Given the description of an element on the screen output the (x, y) to click on. 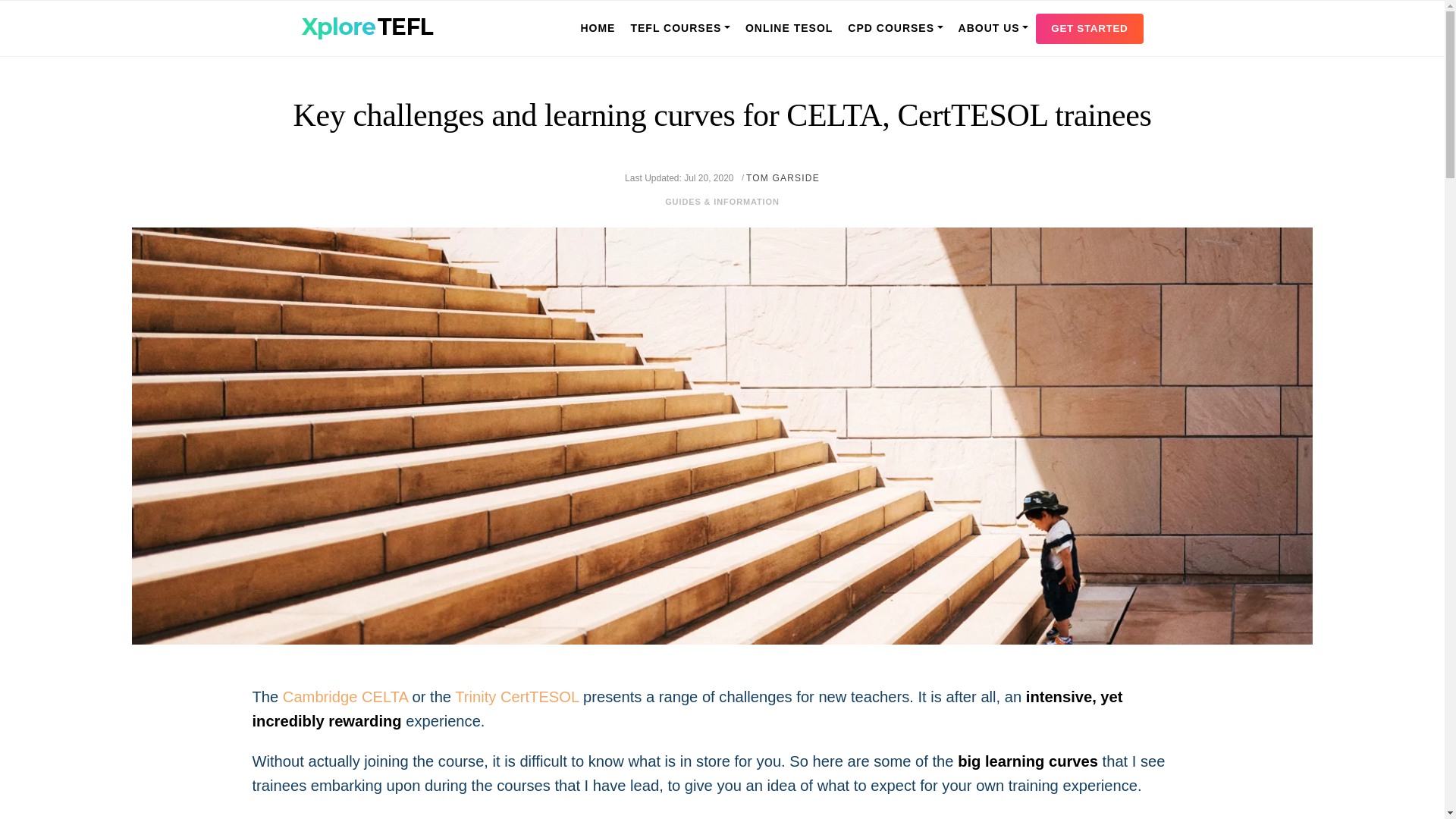
CPD COURSES (895, 28)
ONLINE TESOL (788, 28)
TEFL COURSES (679, 28)
GET STARTED (1088, 28)
Cambridge CELTA (344, 696)
HOME (597, 28)
TOM GARSIDE (782, 177)
ABOUT US (993, 28)
Trinity CertTESOL (516, 696)
